Given the description of an element on the screen output the (x, y) to click on. 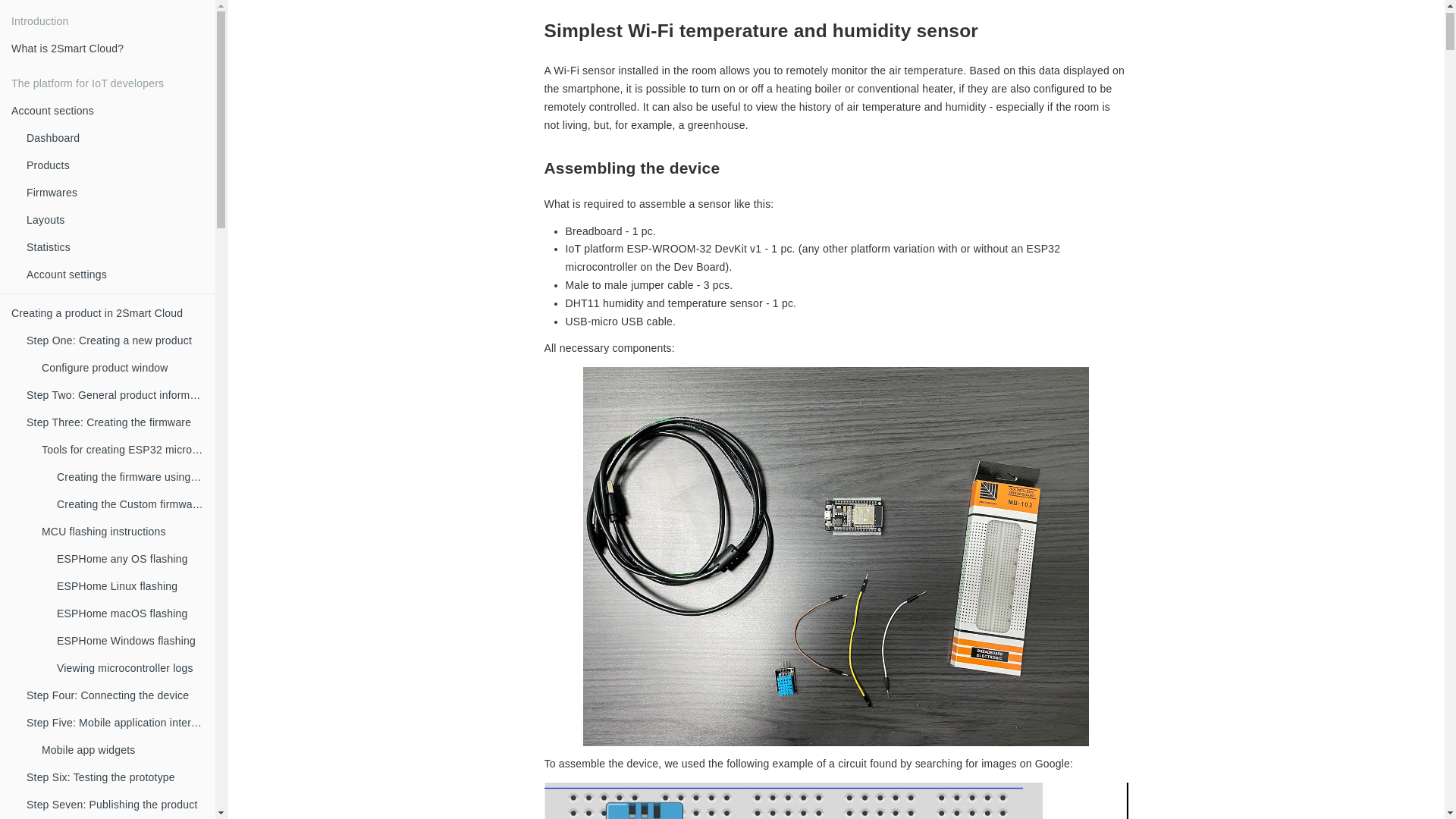
Step Two: General product information Element type: text (115, 394)
Dashboard Element type: text (115, 137)
ESPHome Linux flashing Element type: text (130, 585)
Step Seven: Publishing the product Element type: text (115, 804)
ESPHome macOS flashing Element type: text (130, 613)
Viewing microcontroller logs Element type: text (130, 667)
Statistics Element type: text (115, 246)
Creating a product in 2Smart Cloud Element type: text (107, 312)
Creating the firmware using ESPHome Element type: text (130, 476)
Layouts Element type: text (115, 219)
Mobile app widgets Element type: text (122, 749)
Firmwares Element type: text (115, 192)
Account settings Element type: text (115, 274)
Step Five: Mobile application interface Element type: text (115, 722)
Step Three: Creating the firmware Element type: text (115, 422)
ESPHome Windows flashing Element type: text (130, 640)
Account sections Element type: text (107, 110)
ESPHome any OS flashing Element type: text (130, 558)
Step One: Creating a new product Element type: text (115, 340)
Tools for creating ESP32 microcontroller firmware Element type: text (122, 449)
Step Six: Testing the prototype Element type: text (115, 776)
Creating the Custom firmware using SDK Element type: text (130, 503)
Configure product window Element type: text (122, 367)
What is 2Smart Cloud? Element type: text (107, 48)
Step Four: Connecting the device Element type: text (115, 695)
Products Element type: text (115, 164)
MCU flashing instructions Element type: text (122, 531)
